Given the description of an element on the screen output the (x, y) to click on. 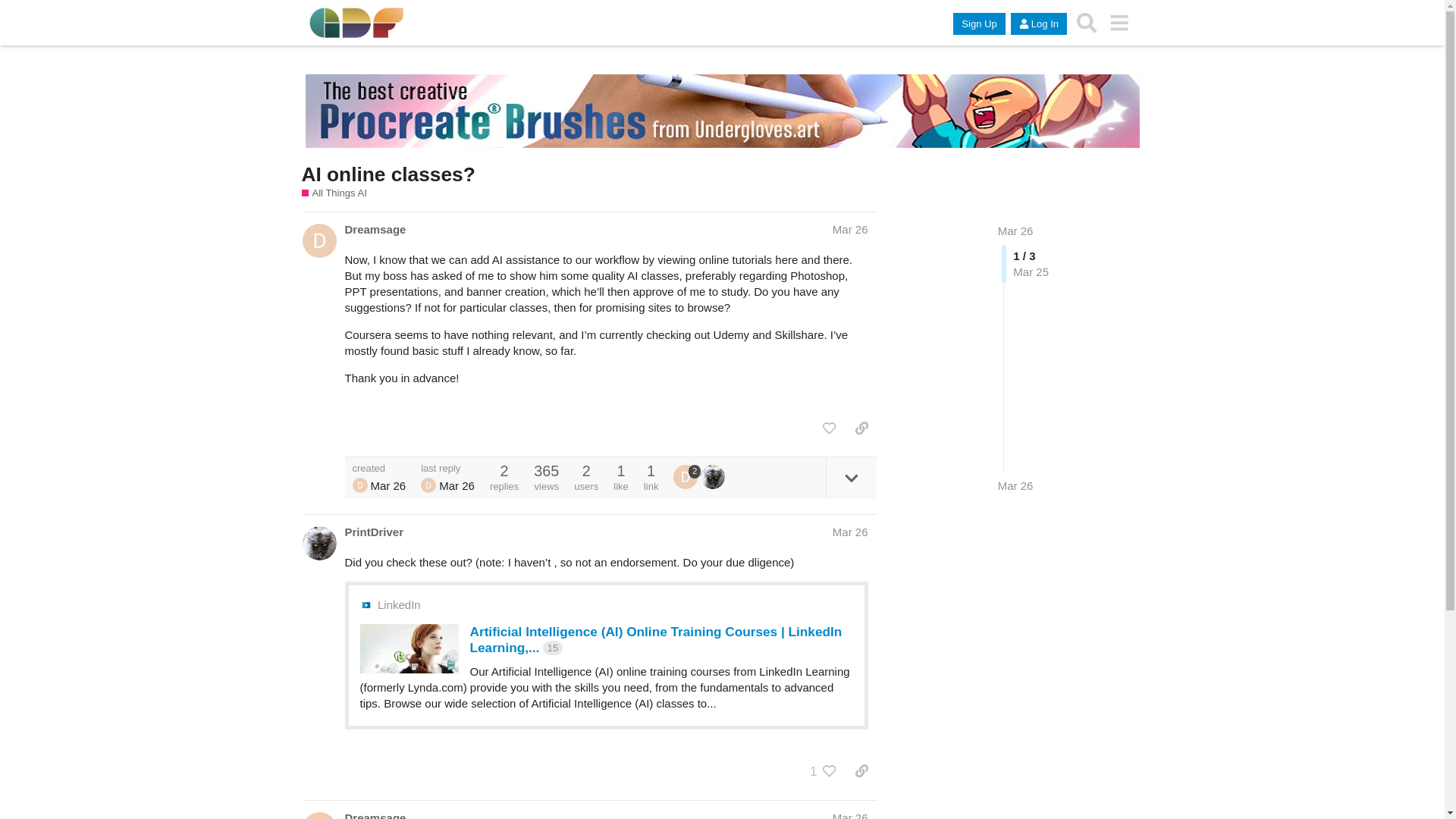
Mar 26 (849, 531)
Mar 26 (849, 228)
Mar 26 (1015, 230)
Post date (849, 228)
Search (1086, 22)
like this post (829, 428)
Gina (427, 485)
Mar 26 (1015, 230)
Mar 26, 2024 12:41 am (456, 485)
Gina (684, 476)
